Given the description of an element on the screen output the (x, y) to click on. 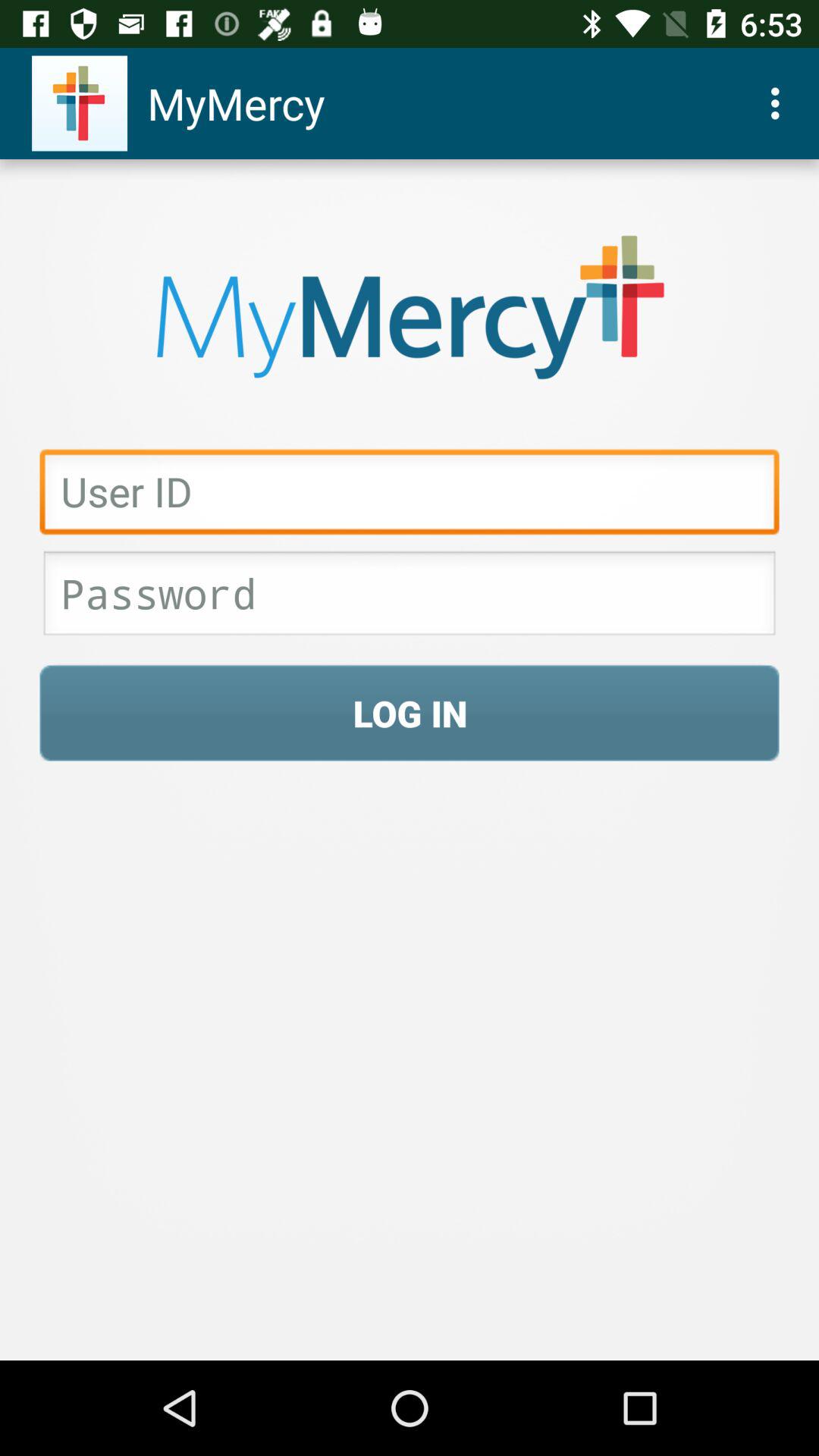
turn on the log in icon (409, 712)
